Given the description of an element on the screen output the (x, y) to click on. 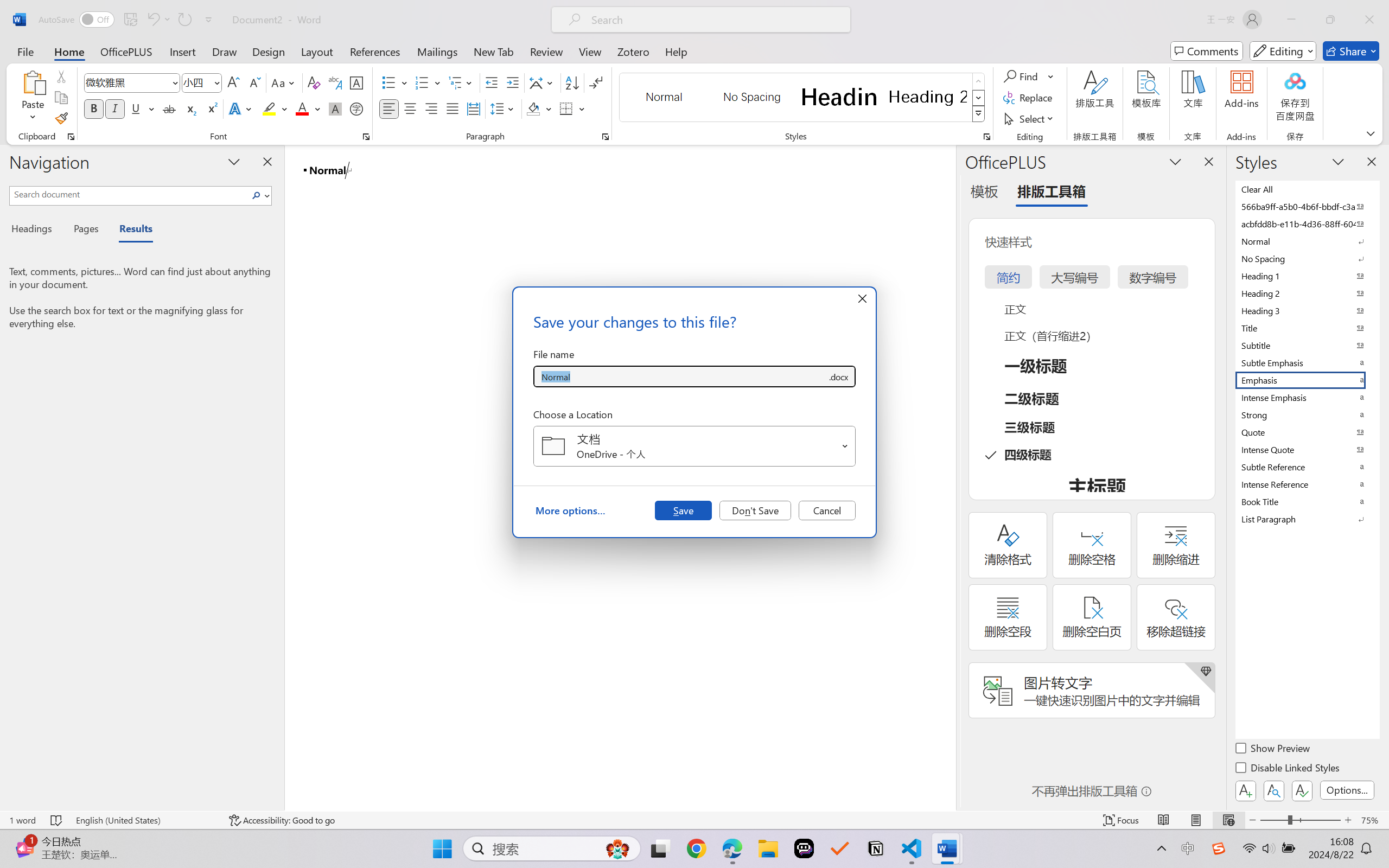
Multilevel List (461, 82)
Show/Hide Editing Marks (595, 82)
Language English (United States) (144, 819)
Disable Linked Styles (1287, 769)
Zotero (632, 51)
Class: NetUIScrollBar (948, 477)
Grow Font (233, 82)
Mailings (437, 51)
Class: NetUIImage (978, 114)
